Given the description of an element on the screen output the (x, y) to click on. 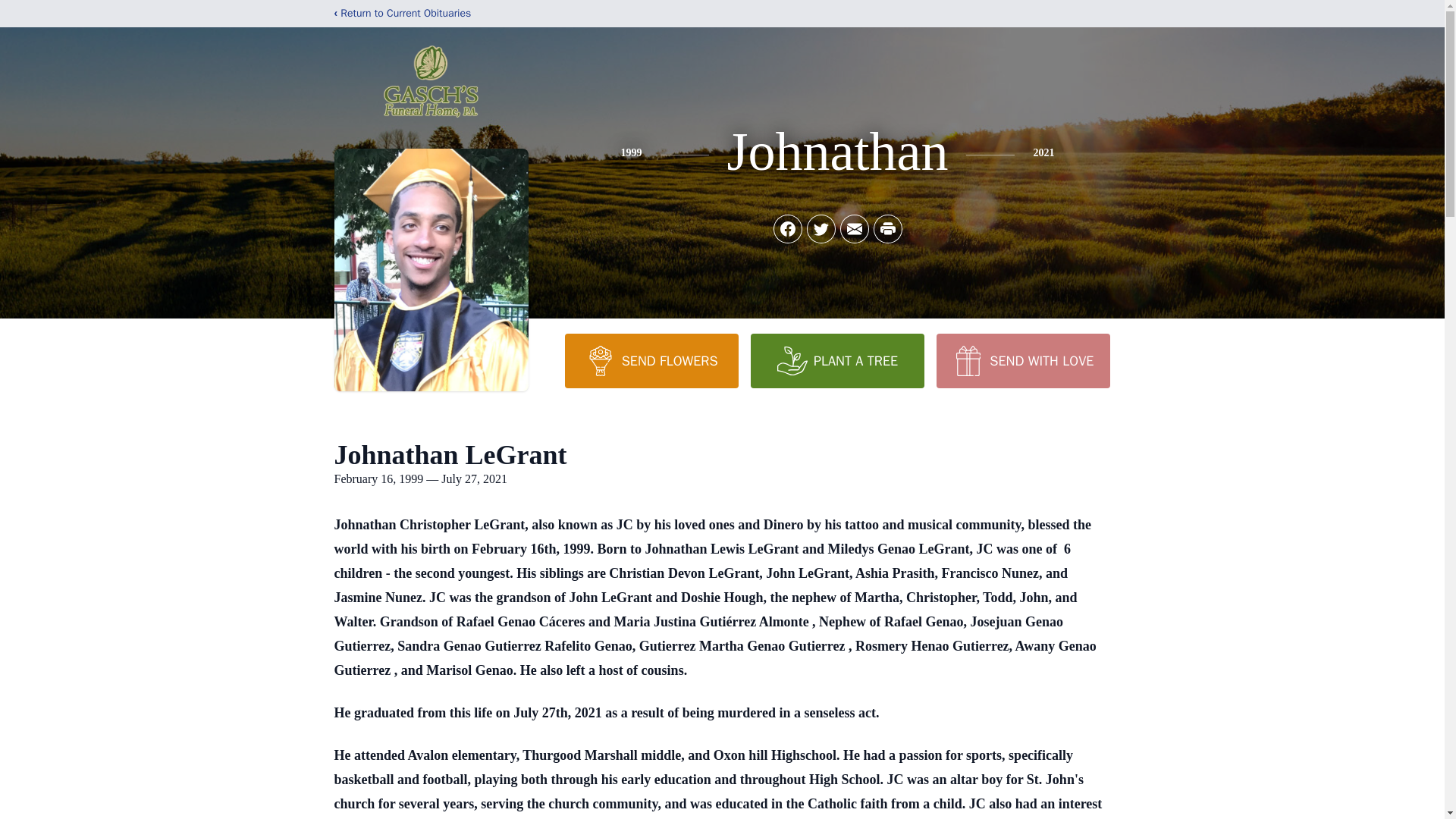
SEND FLOWERS (651, 360)
PLANT A TREE (837, 360)
SEND WITH LOVE (1022, 360)
